Given the description of an element on the screen output the (x, y) to click on. 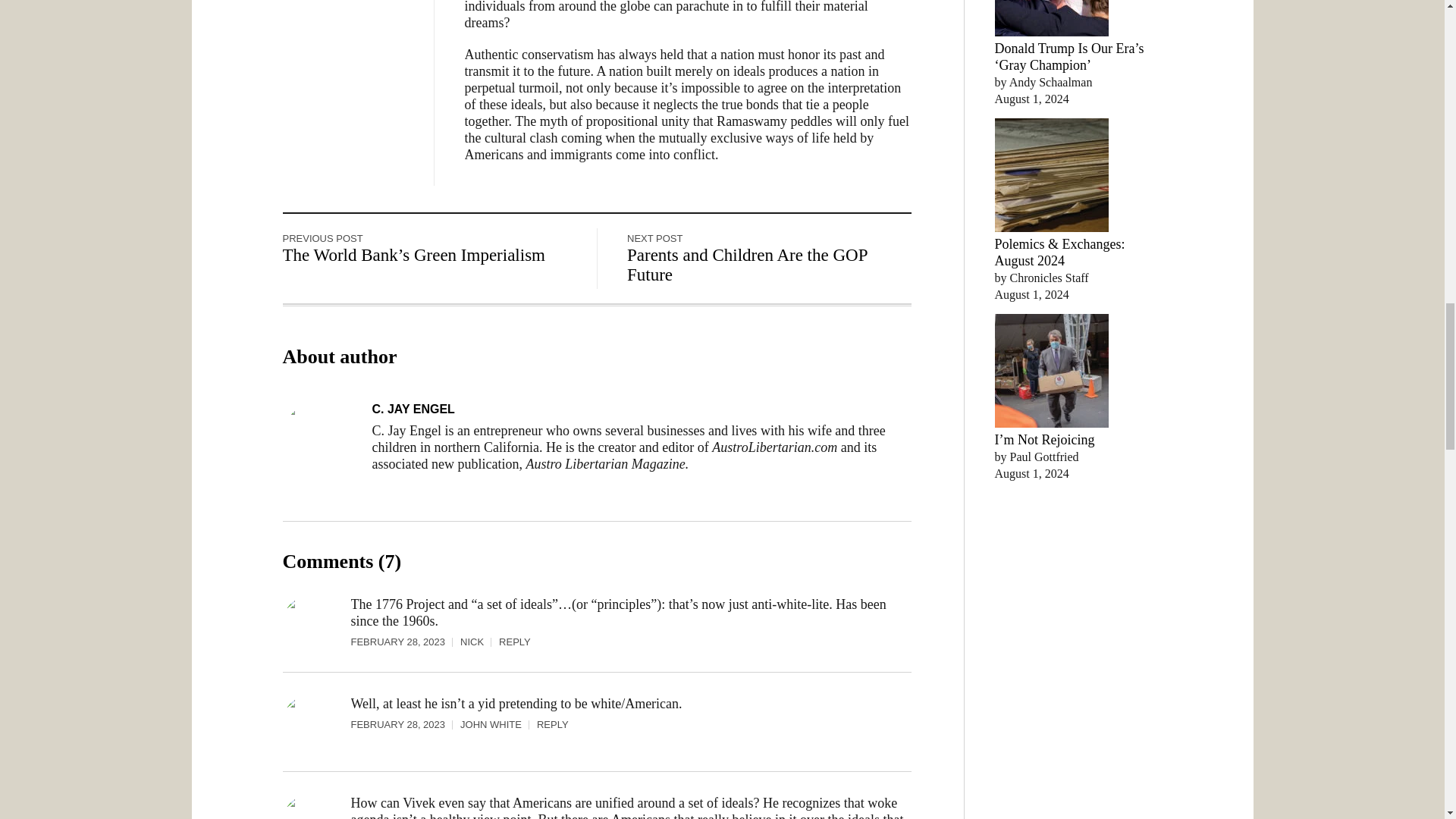
February 28, 2023 (405, 725)
REPLY (515, 642)
Parents and Children Are the GOP Future (747, 265)
February 28, 2023 (405, 642)
REPLY (553, 725)
